Given the description of an element on the screen output the (x, y) to click on. 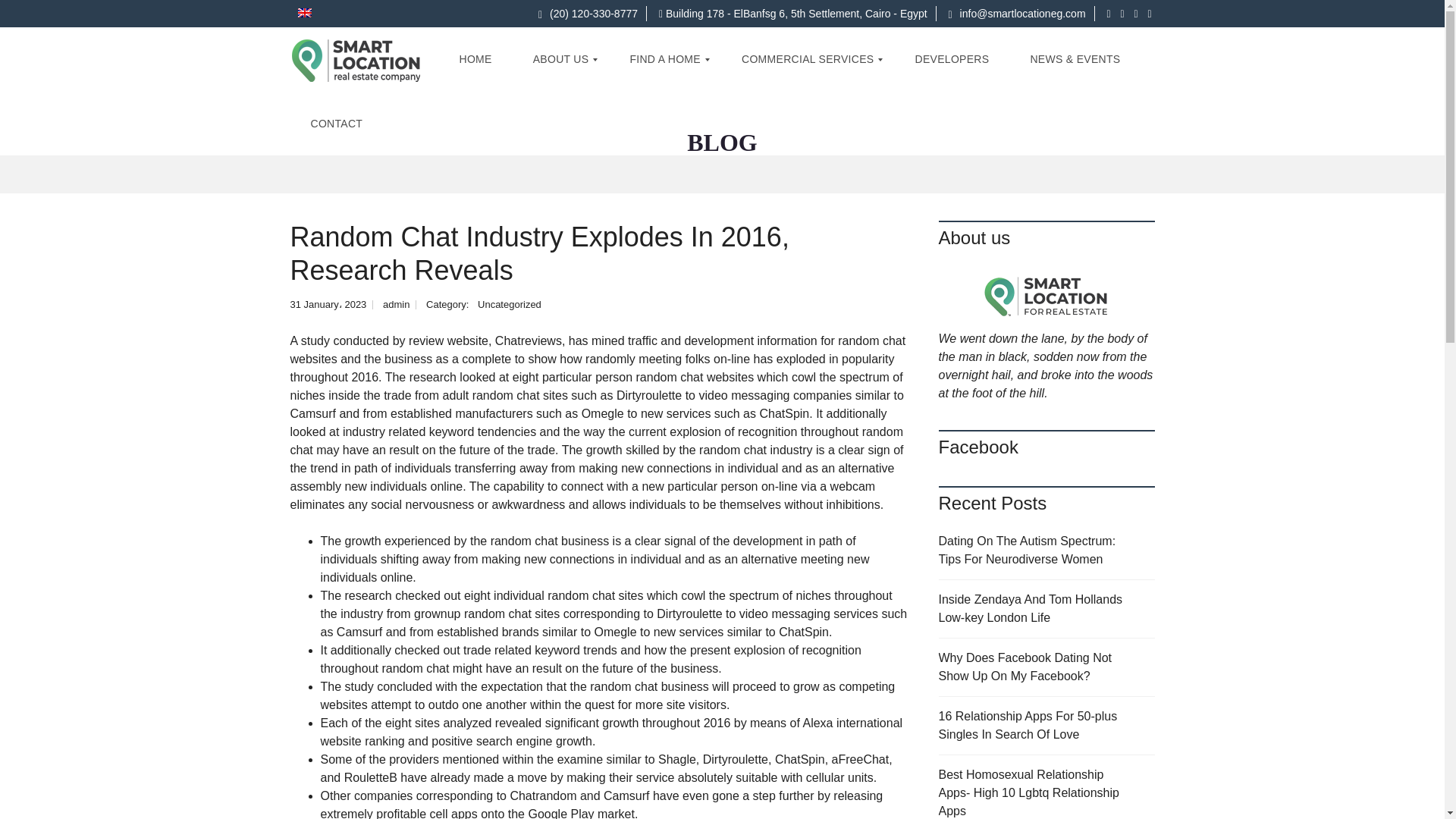
Uncategorized (509, 304)
FIND A HOME (664, 59)
Dating On The Autism Spectrum: Tips For Neurodiverse Women (1046, 550)
About us (1046, 294)
CONTACT (336, 123)
DEVELOPERS (951, 59)
Smart Location (355, 59)
ABOUT US (560, 59)
Inside Zendaya And Tom Hollands Low-key London Life (1046, 608)
COMMERCIAL SERVICES (807, 59)
